Given the description of an element on the screen output the (x, y) to click on. 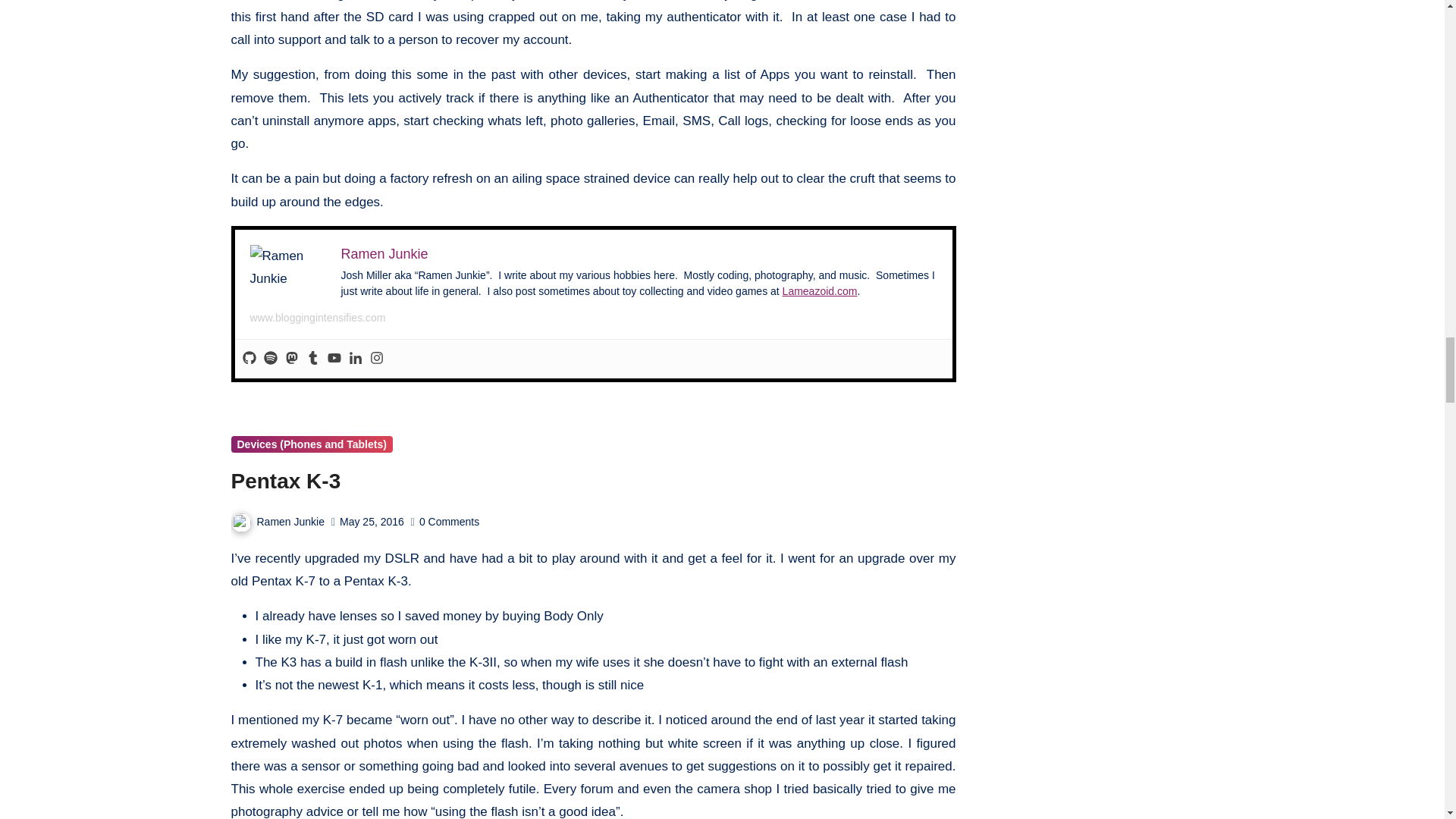
Ramen Junkie (384, 253)
Lameazoid.com (820, 291)
